Given the description of an element on the screen output the (x, y) to click on. 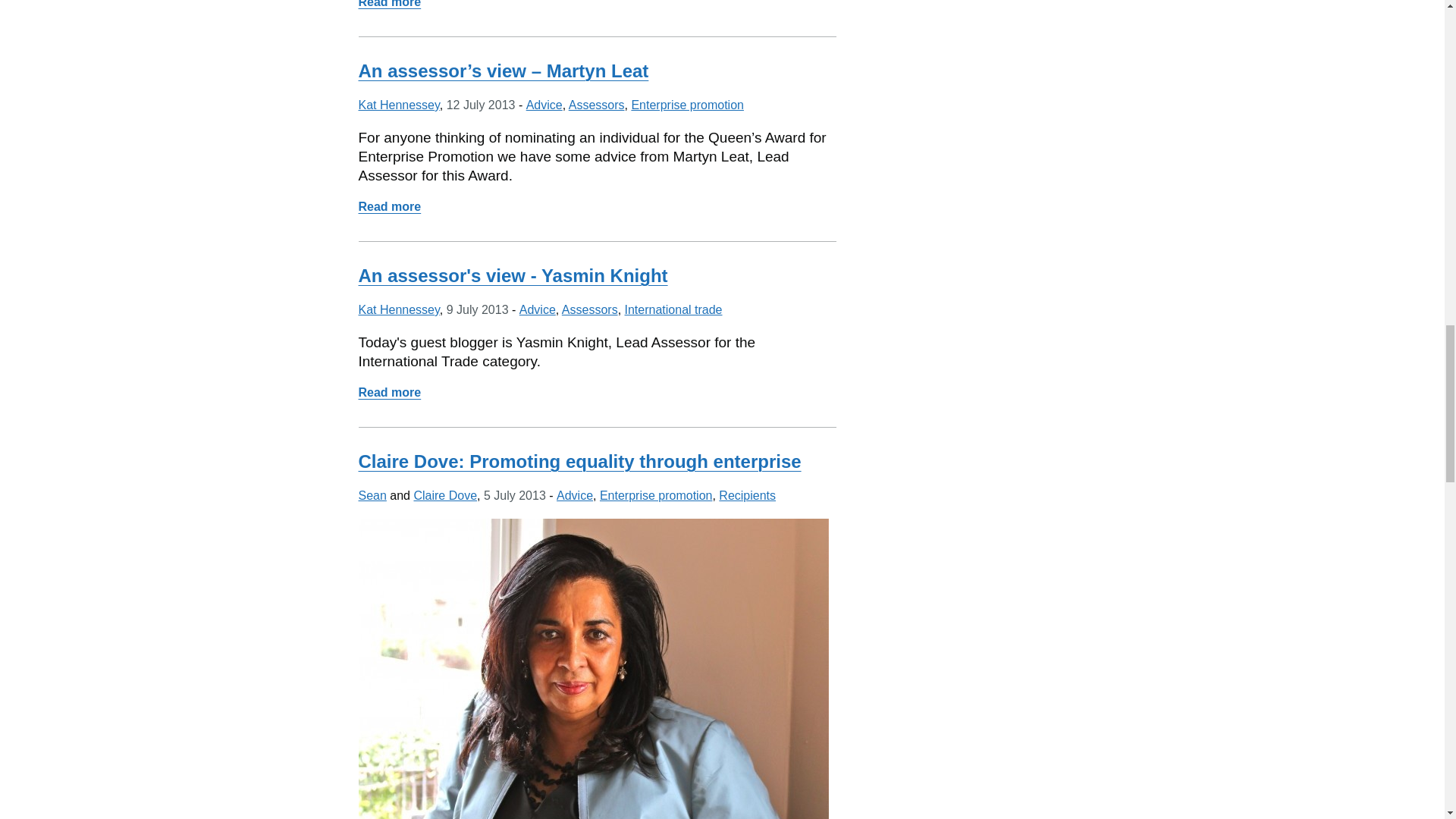
Kat Hennessey (398, 104)
An assessor's view - Yasmin Knight (512, 275)
Kat Hennessey (398, 309)
Posts by Sean (371, 495)
Claire Dove (445, 495)
Posts by Kat Hennessey (398, 309)
Enterprise promotion (687, 104)
Assessors (596, 104)
Assessors (589, 309)
Sean (371, 495)
